Given the description of an element on the screen output the (x, y) to click on. 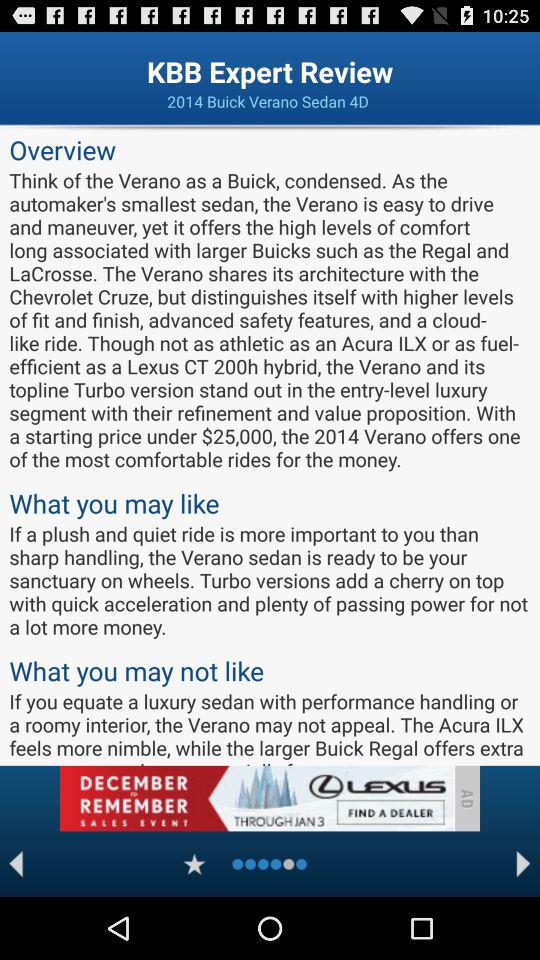
for add (256, 798)
